Given the description of an element on the screen output the (x, y) to click on. 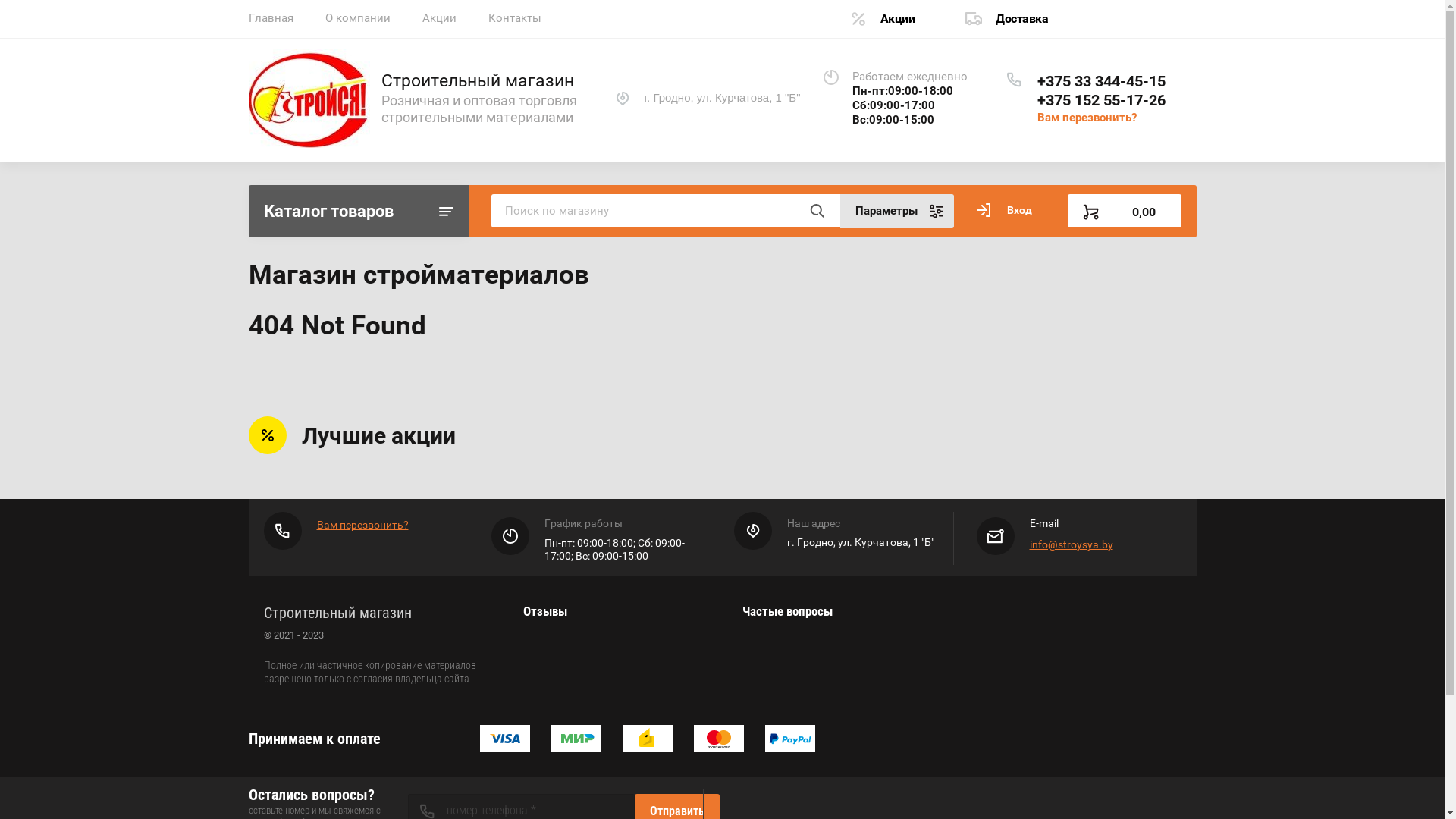
0,00 Element type: text (1124, 210)
+375 33 344-45-15 Element type: text (1101, 81)
info@stroysya.by Element type: text (1071, 544)
  Element type: text (817, 210)
+375 152 55-17-26 Element type: text (1101, 100)
